Given the description of an element on the screen output the (x, y) to click on. 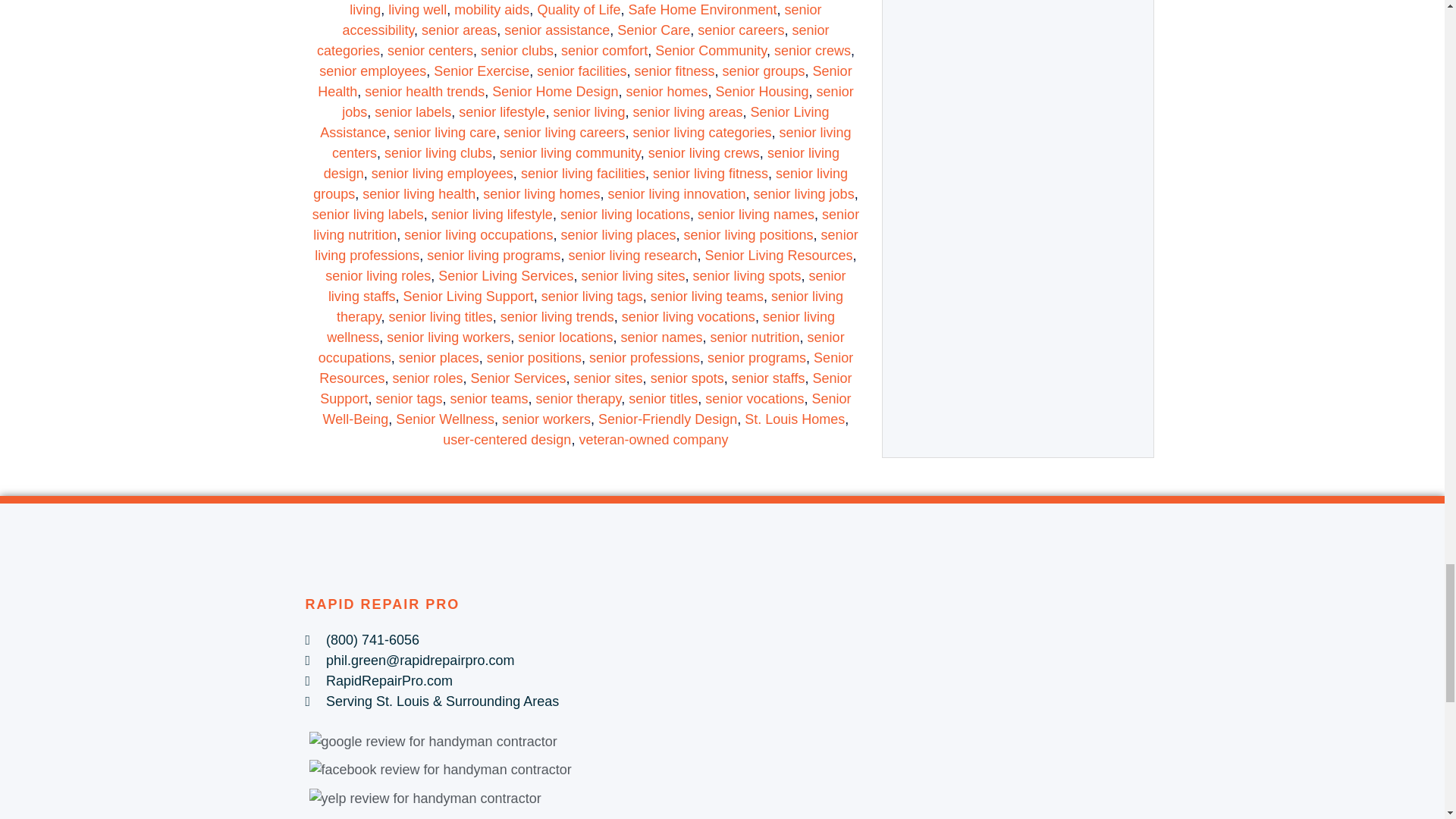
google.png (432, 742)
facebook.png (440, 770)
yelp.png (424, 798)
Rapid Repair Pro 2900 Maryville Rd, Maryville, IL 62062 (933, 706)
